Given the description of an element on the screen output the (x, y) to click on. 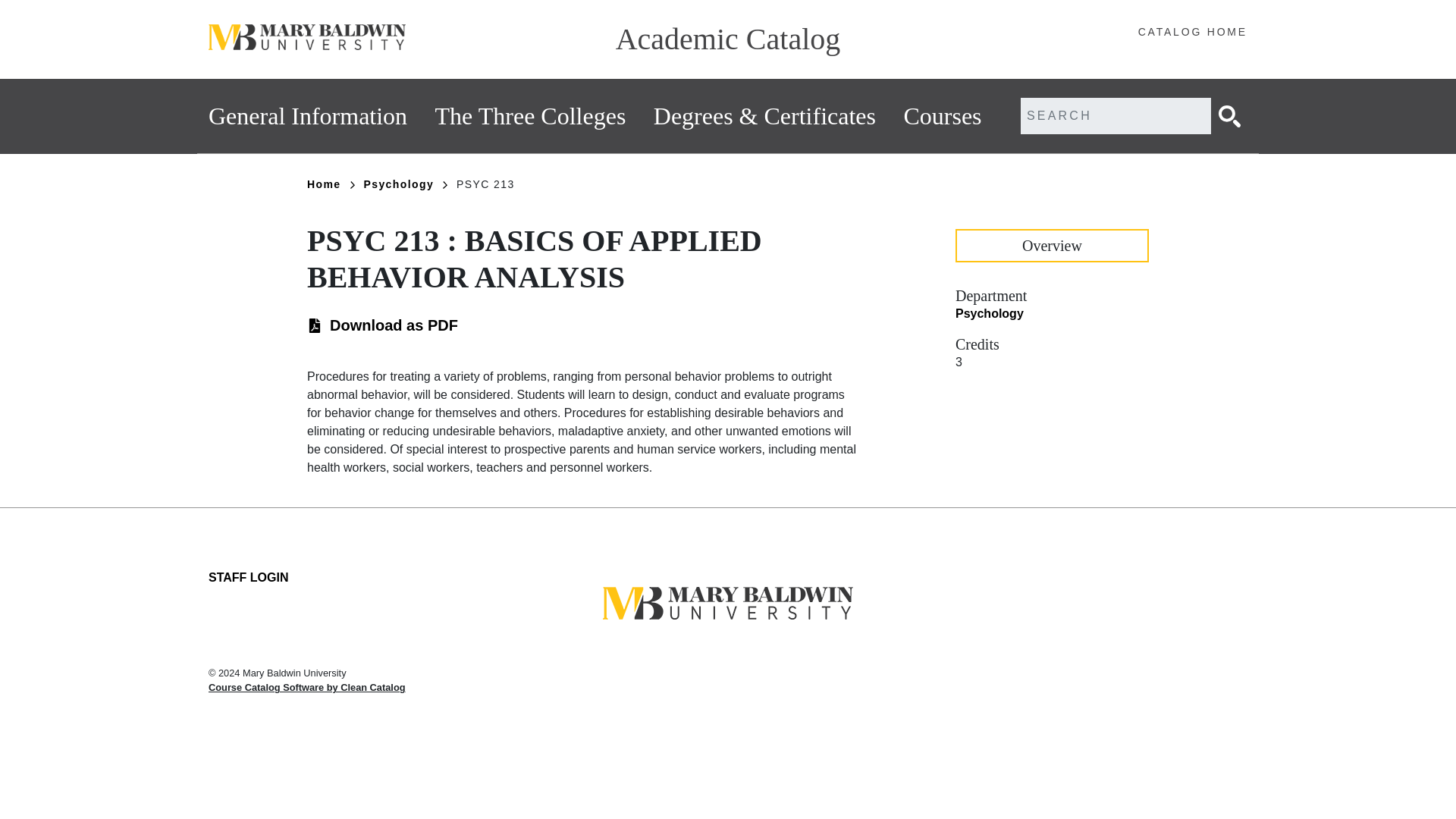
Download as PDF (394, 325)
Psychology (989, 314)
Course Catalog Software by Clean Catalog (307, 687)
Search (1229, 115)
Search (1229, 115)
The Three Colleges (530, 116)
CATALOG HOME (1192, 31)
STAFF LOGIN (248, 577)
Courses (941, 116)
General Information (307, 116)
